Given the description of an element on the screen output the (x, y) to click on. 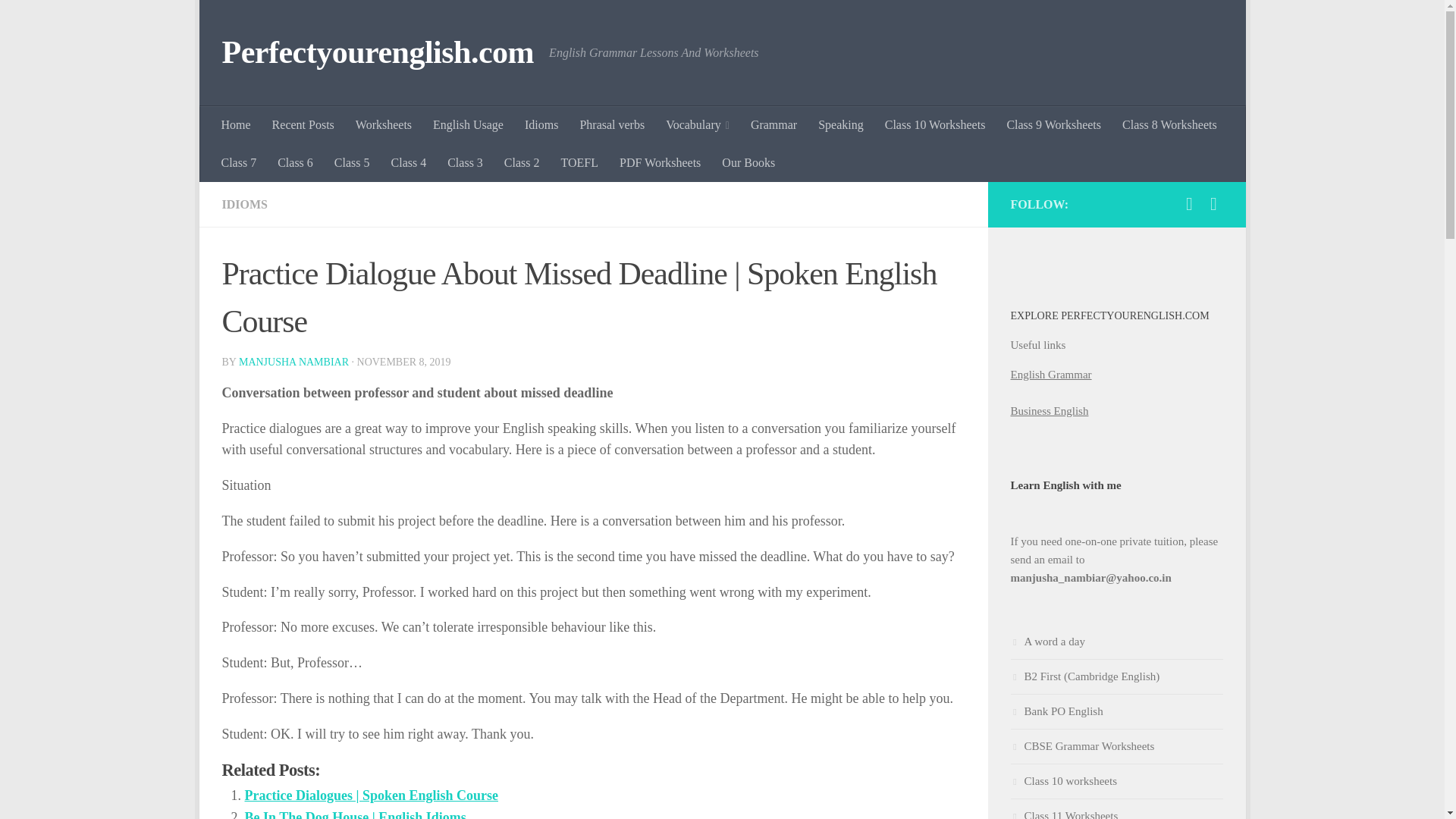
Grammar (773, 125)
Phrasal verbs (612, 125)
Follow us on Youtube (1213, 203)
Perfectyourenglish.com (377, 53)
Class 10 Worksheets (935, 125)
Posts by Manjusha Nambiar (293, 361)
Recent Posts (303, 125)
Idioms (541, 125)
Home (236, 125)
Worksheets (383, 125)
